Given the description of an element on the screen output the (x, y) to click on. 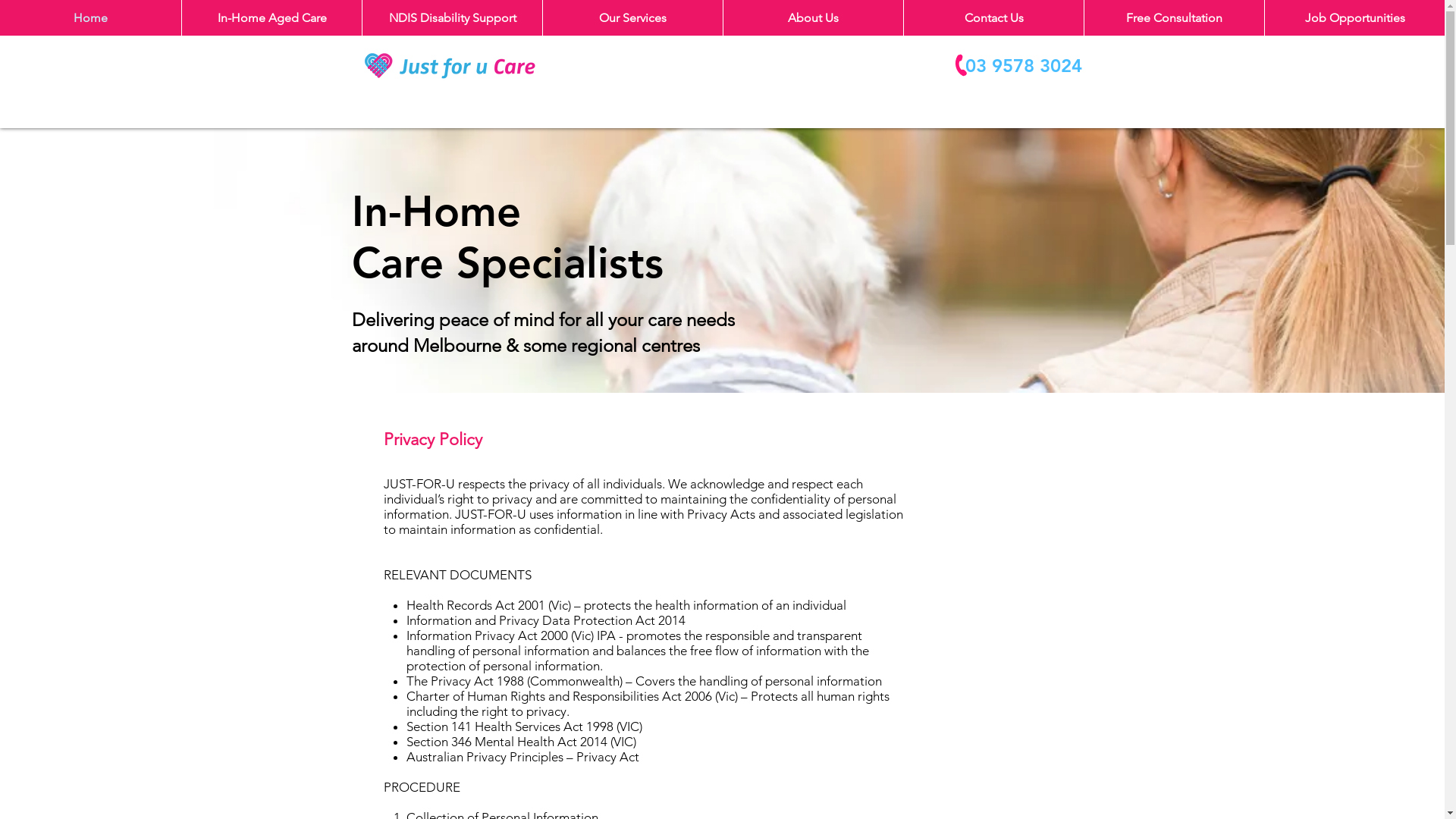
Site Search Element type: hover (836, 65)
Job Opportunities Element type: text (1354, 17)
Home Element type: text (90, 17)
Just For U Care Element type: hover (450, 65)
Contact Us Element type: text (993, 17)
NDIS Disability Support Element type: text (452, 17)
Free Consultation Element type: text (1174, 17)
  03 9578 3024 Element type: text (1017, 65)
About Us Element type: text (813, 17)
Our Services Element type: text (632, 17)
